Given the description of an element on the screen output the (x, y) to click on. 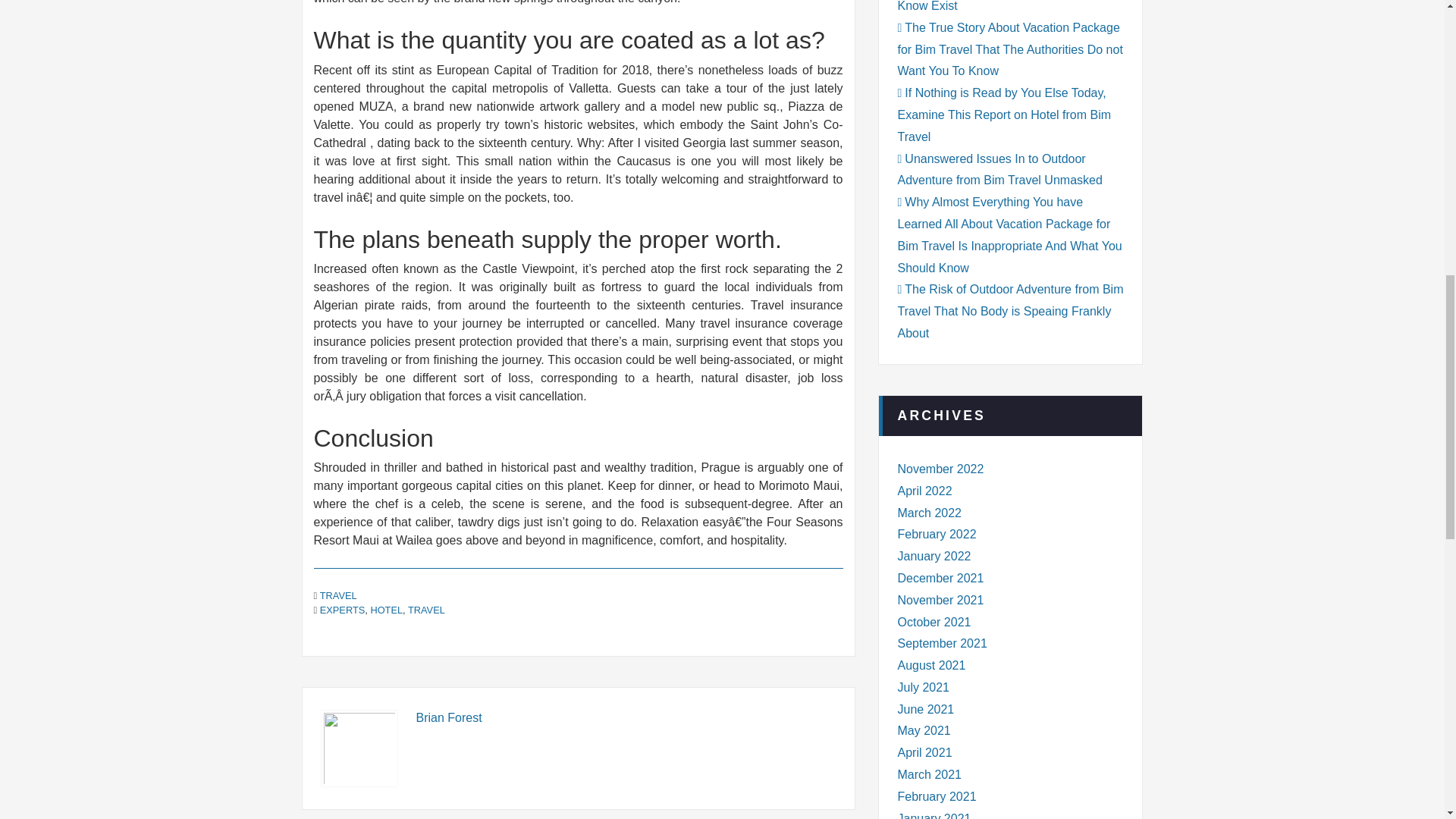
January 2022 (934, 555)
TRAVEL (338, 595)
HOTEL (386, 609)
TRAVEL (426, 609)
November 2022 (941, 468)
April 2022 (925, 490)
February 2022 (937, 533)
December 2021 (941, 577)
